Given the description of an element on the screen output the (x, y) to click on. 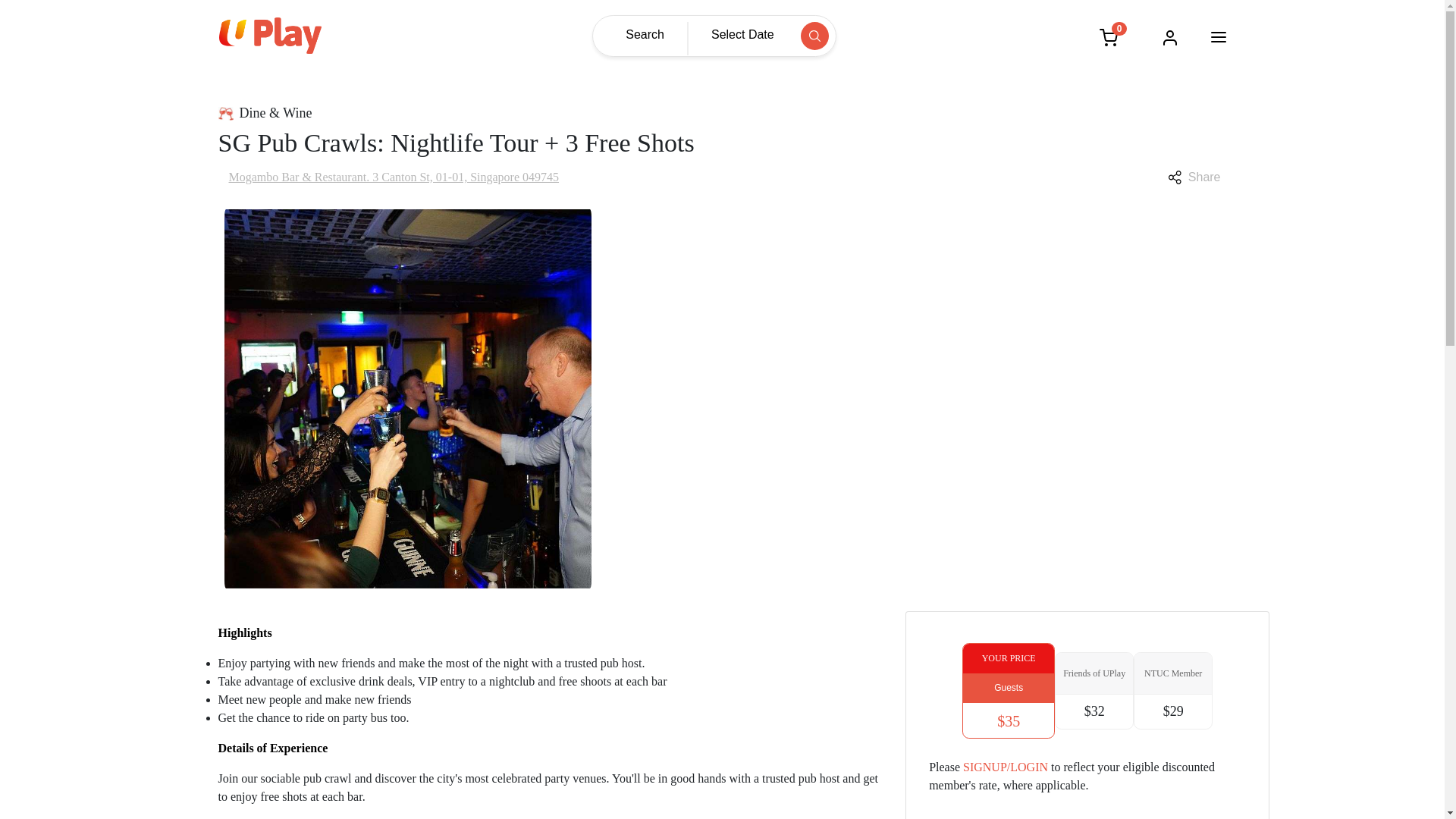
New Guests on Ready for Experience (1008, 687)
Returning Guests on UPlay (1093, 672)
Search (651, 33)
Select Date (736, 33)
UPlay Homepage (269, 35)
